Given the description of an element on the screen output the (x, y) to click on. 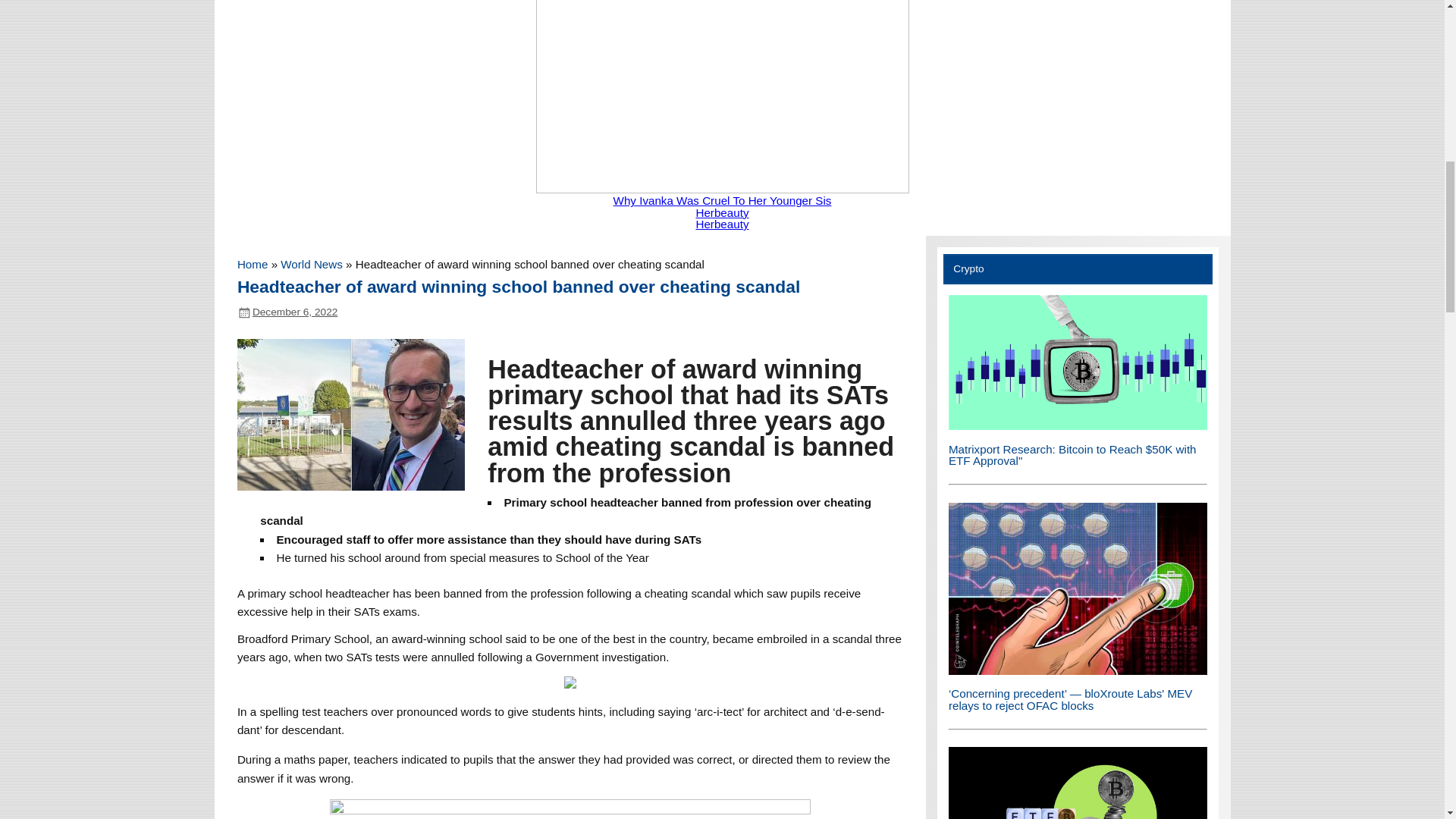
World News (311, 264)
3:43 pm (294, 311)
Home (252, 264)
December 6, 2022 (294, 311)
